Given the description of an element on the screen output the (x, y) to click on. 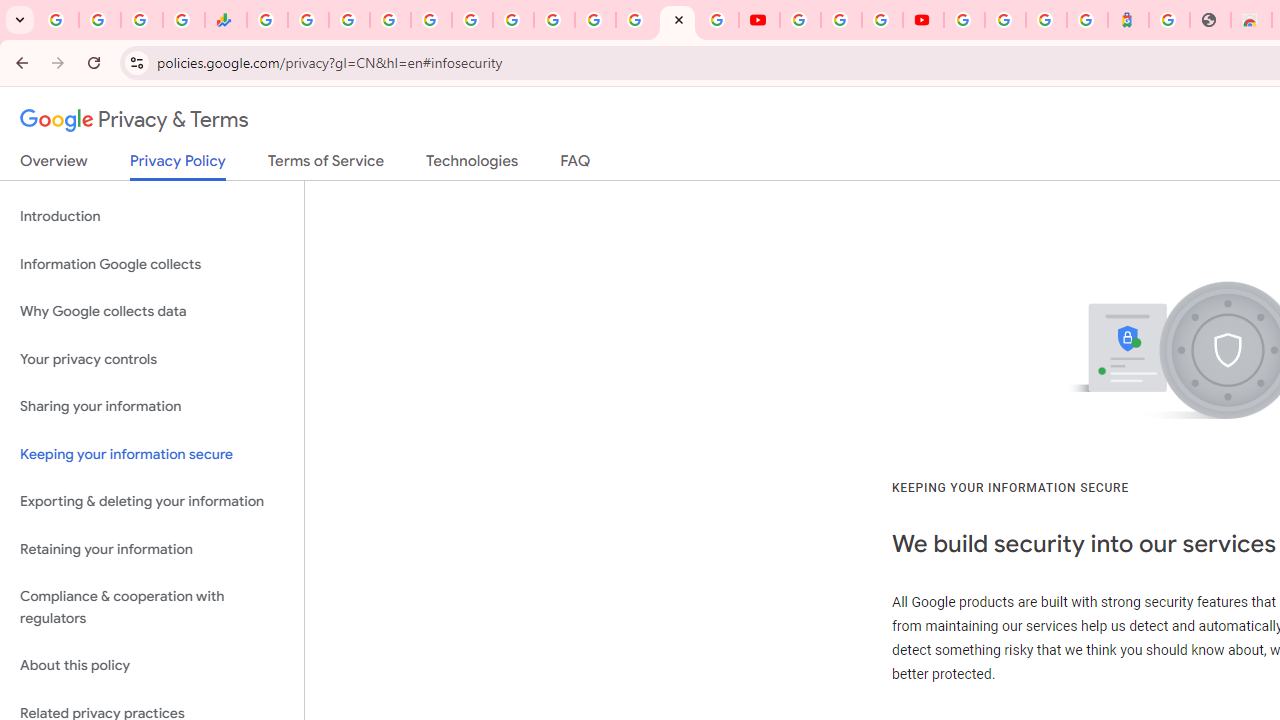
Information Google collects (152, 263)
Create your Google Account (881, 20)
Privacy & Terms (134, 120)
FAQ (575, 165)
Terms of Service (326, 165)
Atour Hotel - Google hotels (1128, 20)
Exporting & deleting your information (152, 502)
